Given the description of an element on the screen output the (x, y) to click on. 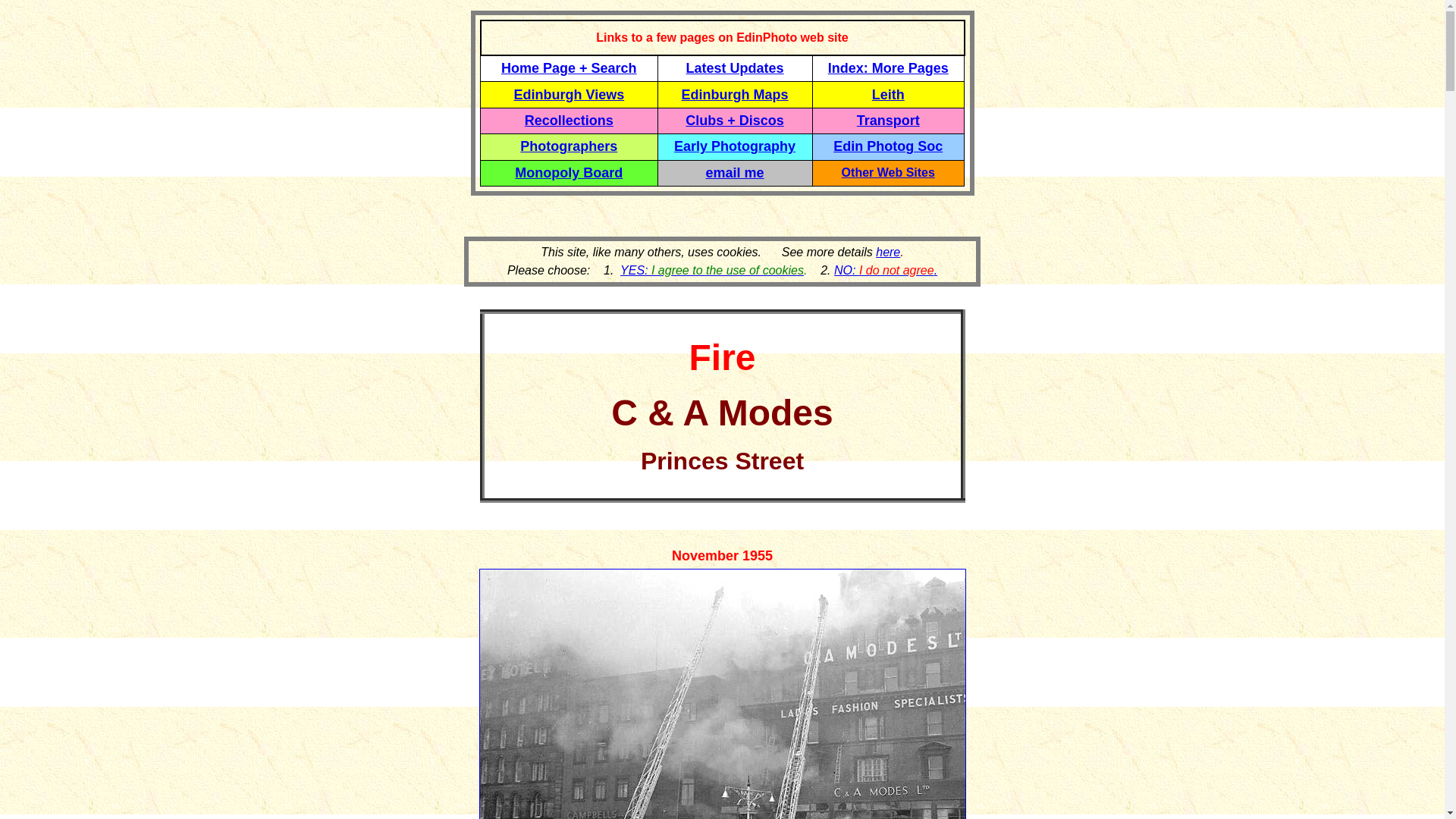
November 1955 (722, 555)
YES: I agree to the use of cookies (711, 269)
Other Web Sites (887, 172)
Monopoly Board (569, 172)
NO: I do not agree. (885, 269)
Edinburgh Maps (735, 94)
Photographers (568, 145)
Latest Updates (734, 68)
email me (735, 172)
Leith (888, 94)
